Given the description of an element on the screen output the (x, y) to click on. 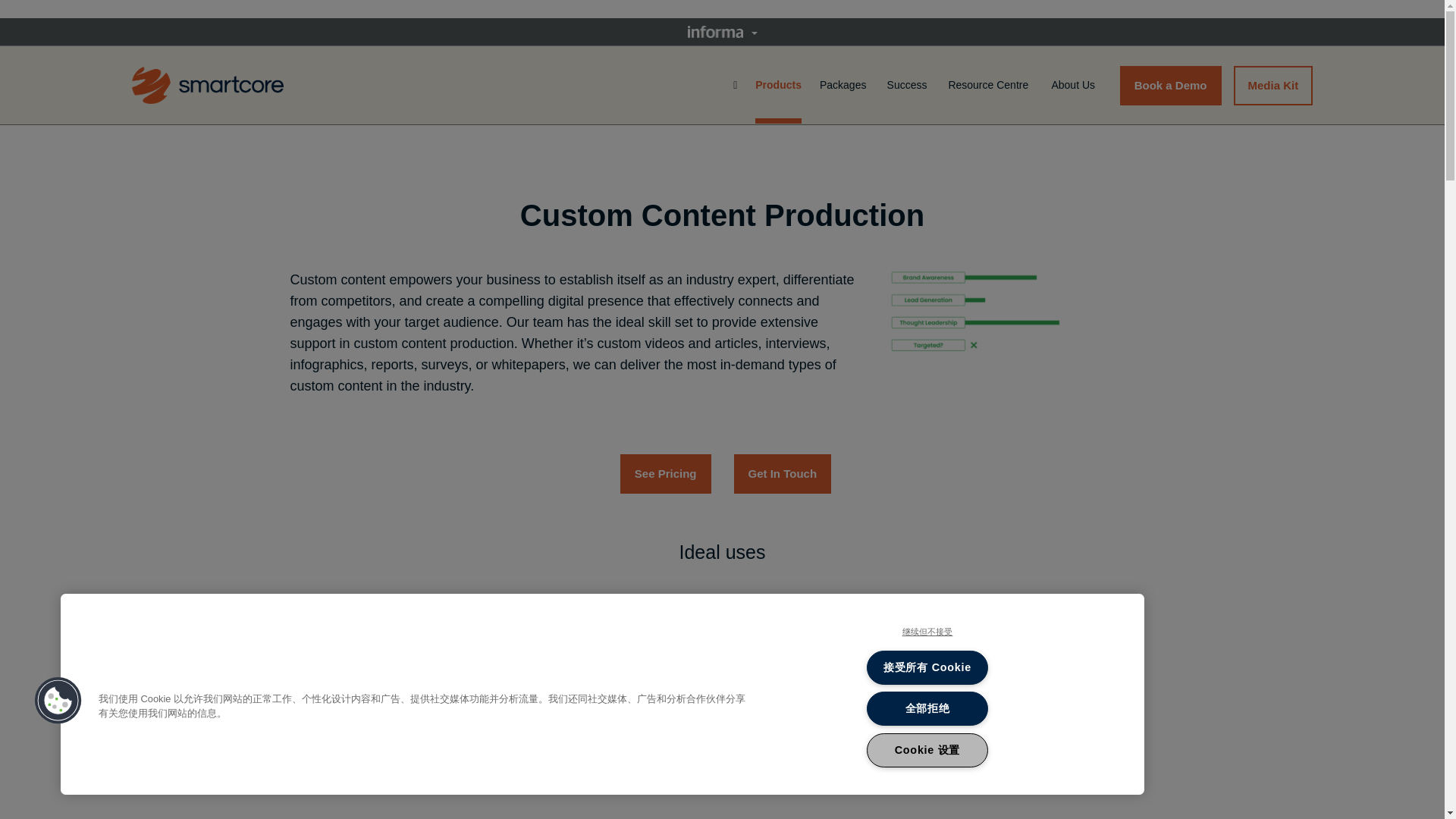
Book a Demo (1170, 84)
  Get In Touch (782, 473)
Cookies Button (57, 700)
  See Pricing (665, 473)
Resource Centre (989, 84)
Resource Centre (989, 84)
  Get In Touch (782, 473)
Media Kit (1273, 84)
  See Pricing (665, 473)
